Given the description of an element on the screen output the (x, y) to click on. 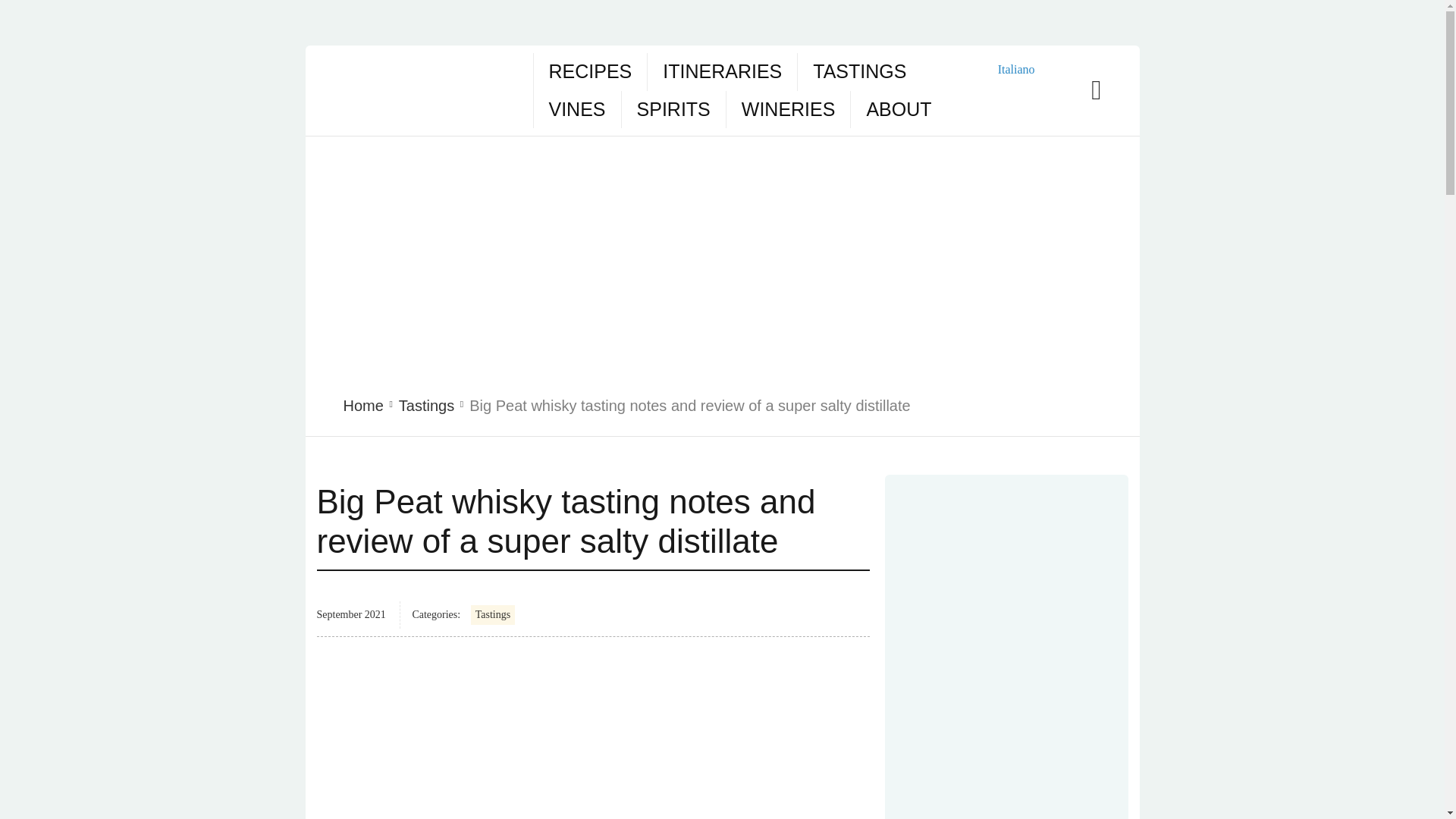
Tastings (426, 405)
ABOUT (898, 109)
SPIRITS (673, 109)
VINES (576, 109)
Tastings (492, 614)
RECIPES (589, 71)
Home (362, 405)
View all posts in Tastings (426, 405)
TASTINGS (858, 71)
Italiano (1006, 68)
ITINERARIES (721, 71)
WINERIES (788, 109)
